Given the description of an element on the screen output the (x, y) to click on. 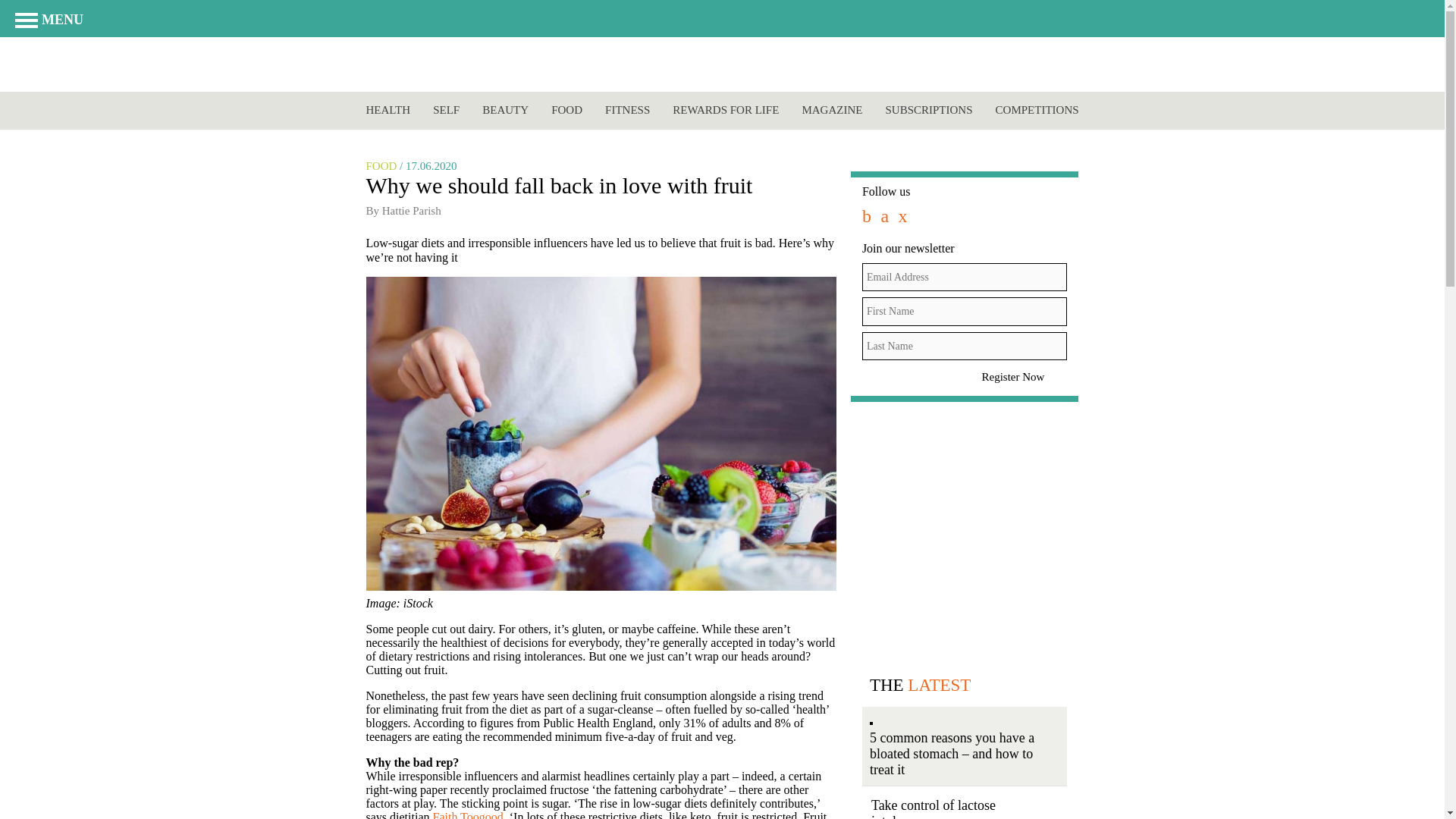
COMPETITIONS (1036, 110)
SELF (446, 110)
Register Now (1021, 377)
MAGAZINE (831, 110)
FITNESS (627, 110)
HEALTH (387, 110)
BEAUTY (504, 110)
Register Now (1021, 377)
FOOD (566, 110)
Faith Toogood (467, 814)
